Given the description of an element on the screen output the (x, y) to click on. 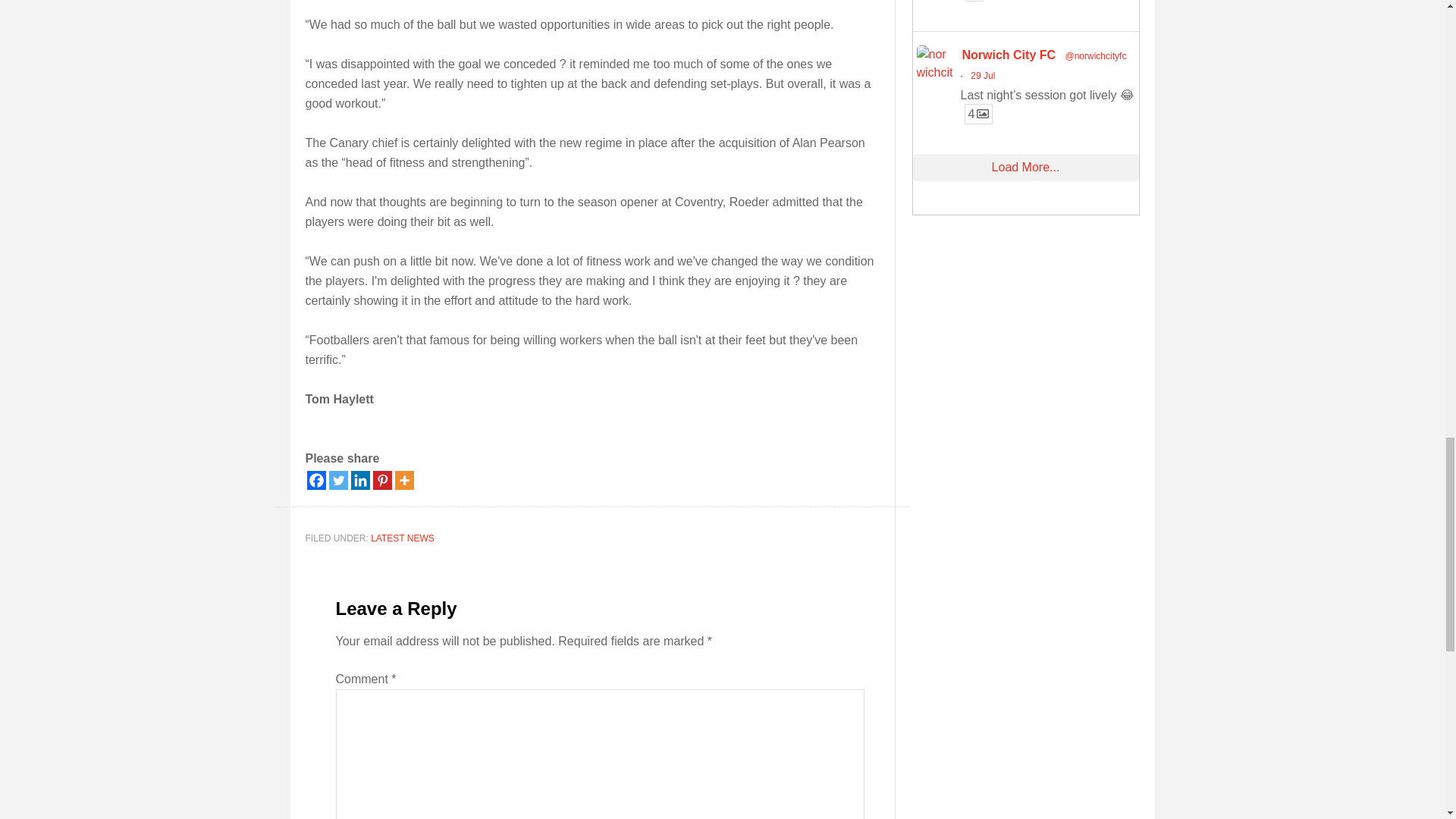
More (403, 479)
Twitter (338, 479)
Linkedin (359, 479)
Pinterest (381, 479)
LATEST NEWS (402, 538)
Facebook (314, 479)
